Given the description of an element on the screen output the (x, y) to click on. 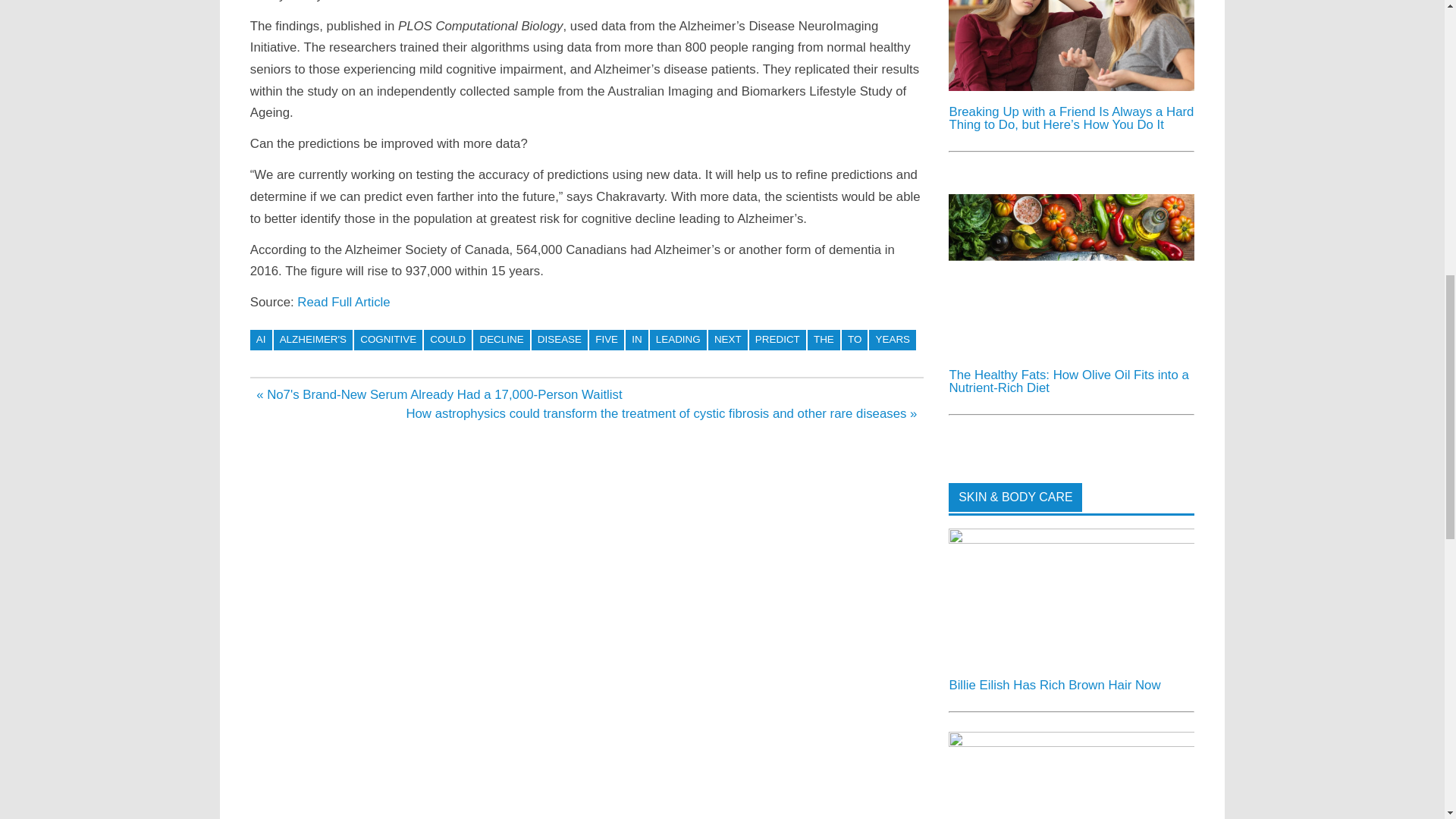
AI (261, 340)
TO (854, 340)
DECLINE (501, 340)
COGNITIVE (387, 340)
DISEASE (559, 340)
IN (636, 340)
Billie Eilish Has Rich Brown Hair Now (1054, 685)
THE (824, 340)
COULD (447, 340)
Read Full Article (343, 301)
Billie Eilish Has Rich Brown Hair Now (1071, 539)
